Given the description of an element on the screen output the (x, y) to click on. 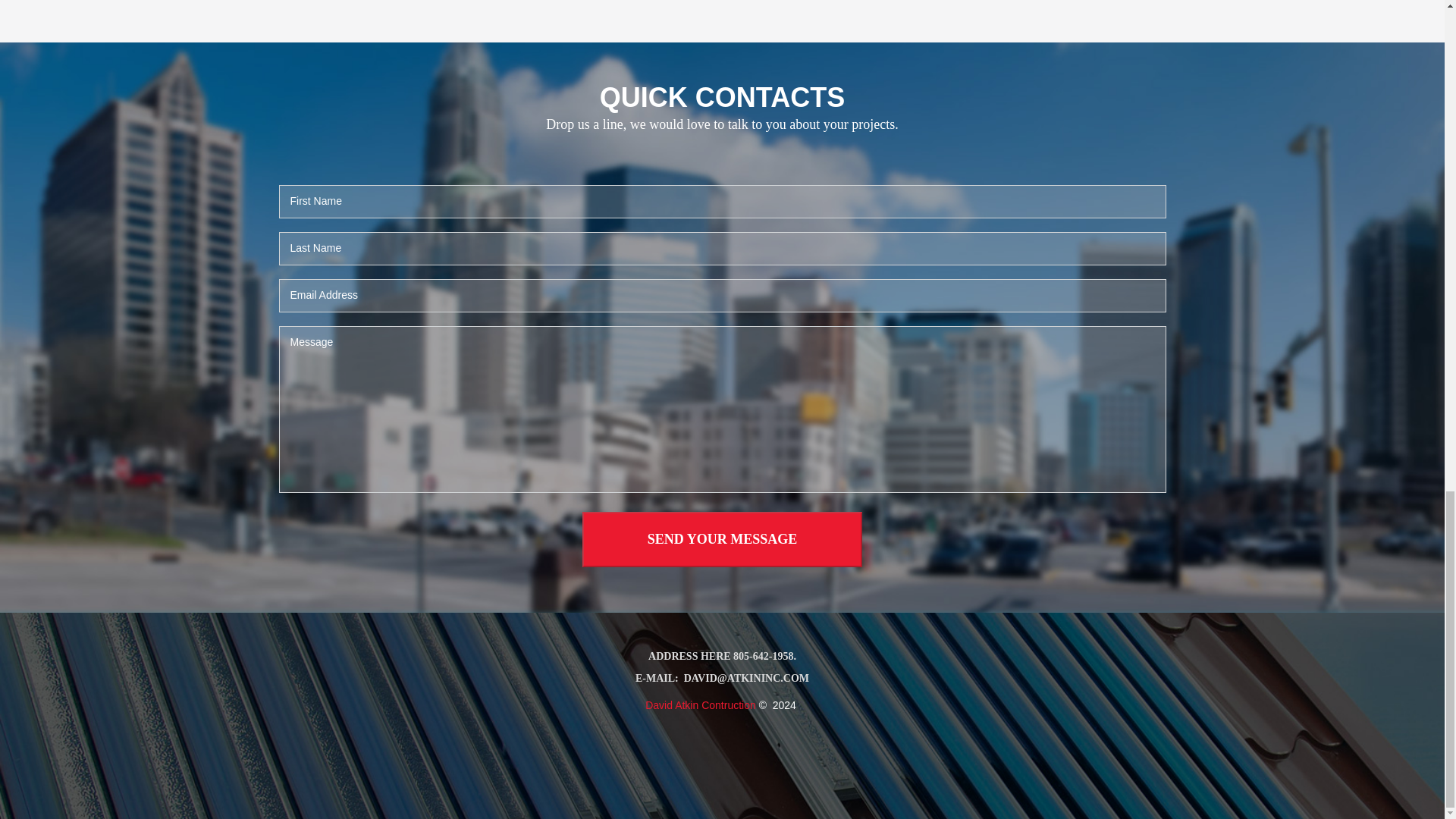
Send Your Message (721, 539)
Send Your Message (721, 539)
805-642-1958. (764, 656)
